Given the description of an element on the screen output the (x, y) to click on. 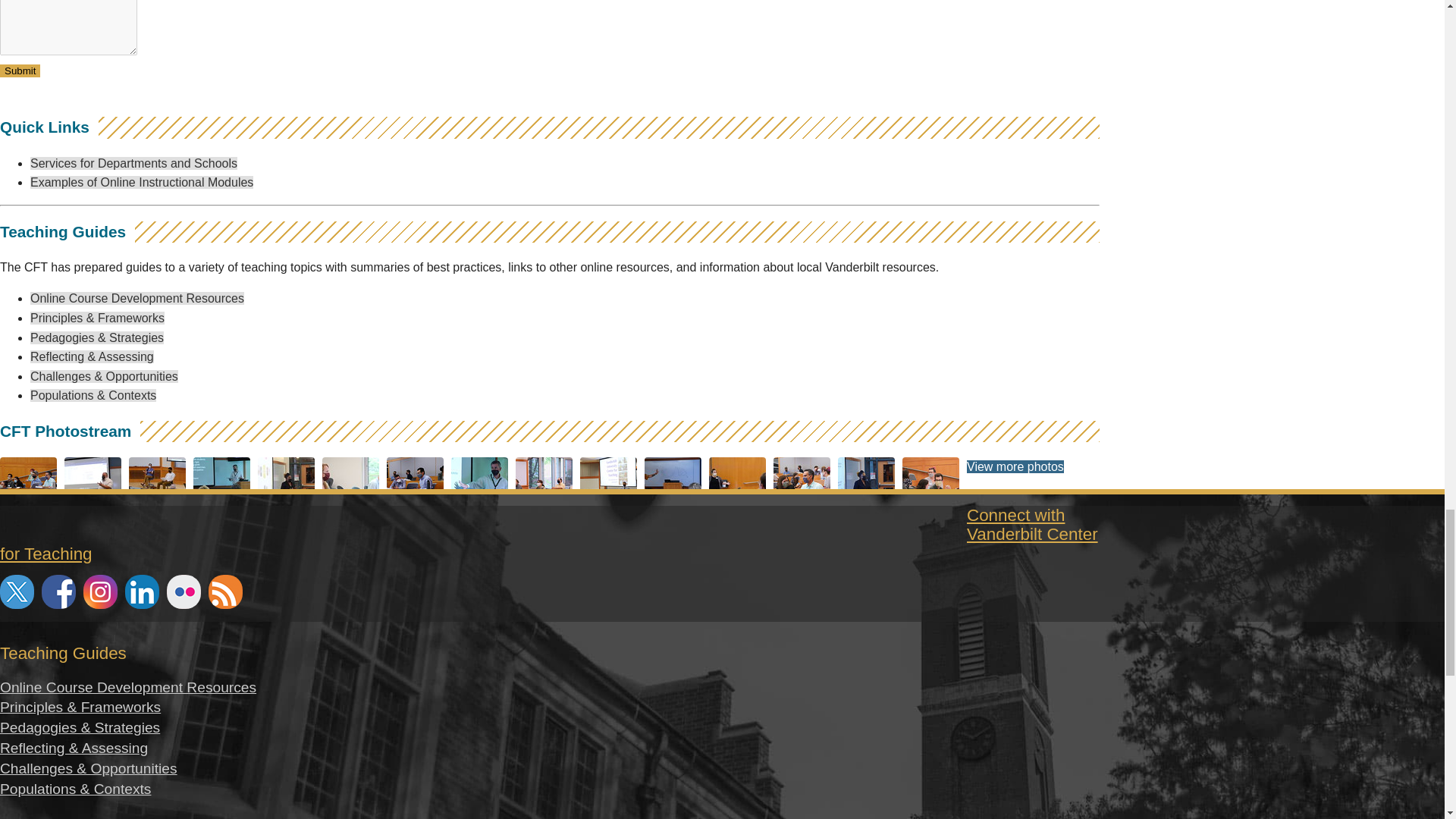
DSC04662 (32, 517)
DSC04684 (161, 517)
DSC04509 (805, 517)
DSC04594 (741, 517)
DSC04558 (677, 517)
follow us on linkedin (141, 591)
DSC04615 (870, 517)
follow us on instagram (99, 591)
follow us on facebook (58, 591)
DSC04572 (225, 517)
follow us on twitter (16, 591)
DSC04502 (419, 517)
DSC04545 (483, 517)
